Given the description of an element on the screen output the (x, y) to click on. 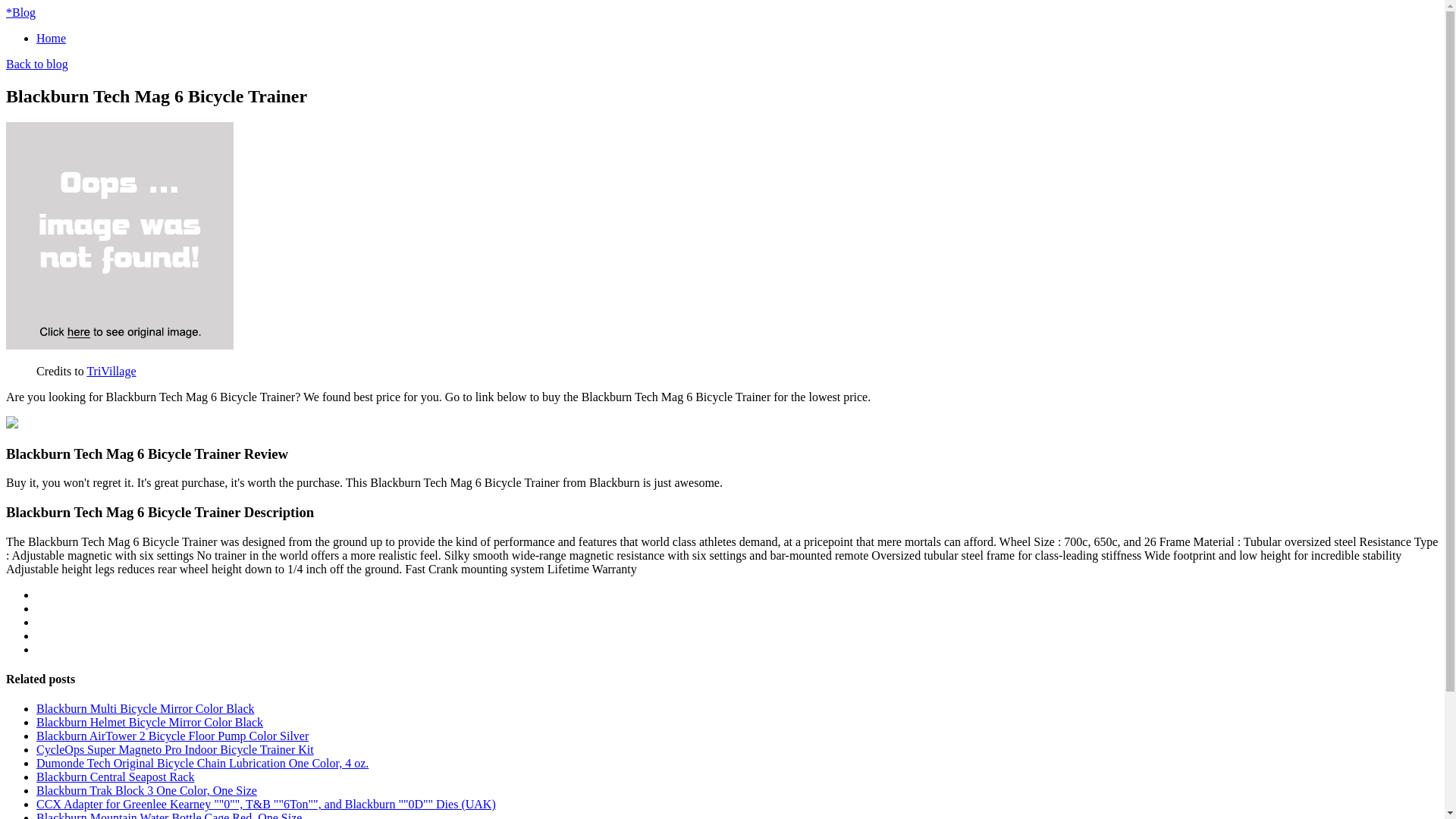
Home (50, 38)
Blackburn Central Seapost Rack (114, 776)
Blackburn Central Seapost Rack (114, 776)
Blackburn Trak Block 3 One Color, One Size (146, 789)
Blackburn AirTower 2 Bicycle Floor Pump Color Silver (172, 735)
Blackburn Helmet Bicycle Mirror Color Black (149, 721)
Blackburn Helmet Bicycle Mirror Color Black (149, 721)
Blackburn Mountain Water Bottle Cage Red, One Size (168, 815)
Blackburn Multi Bicycle Mirror Color Black (145, 707)
CycleOps Super Magneto Pro Indoor Bicycle Trainer Kit (175, 748)
Blackburn AirTower 2 Bicycle Floor Pump Color Silver (172, 735)
Blackburn Mountain Water Bottle Cage Red, One Size (168, 815)
Back to blog (36, 63)
TriVillage (110, 370)
